Given the description of an element on the screen output the (x, y) to click on. 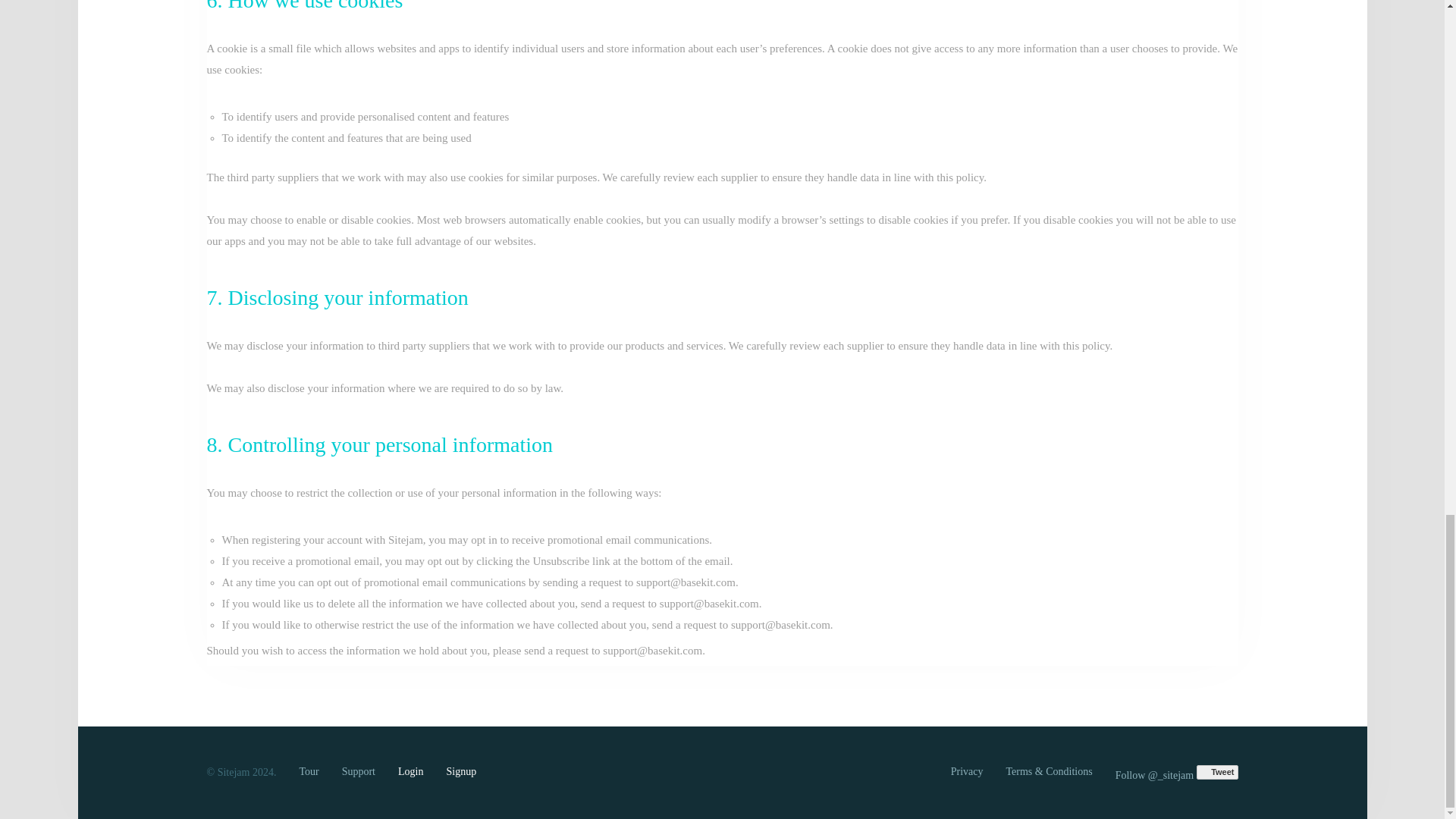
Privacy (967, 771)
Signup (460, 771)
Support (358, 771)
Tweet (1216, 771)
Login (410, 771)
Tour (308, 771)
